Given the description of an element on the screen output the (x, y) to click on. 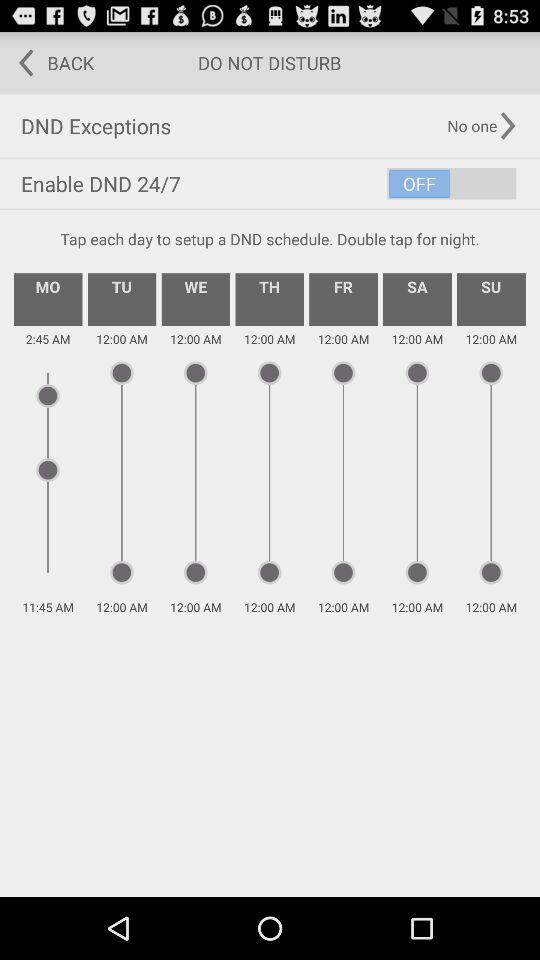
select the app above the 12:00 am app (491, 299)
